Given the description of an element on the screen output the (x, y) to click on. 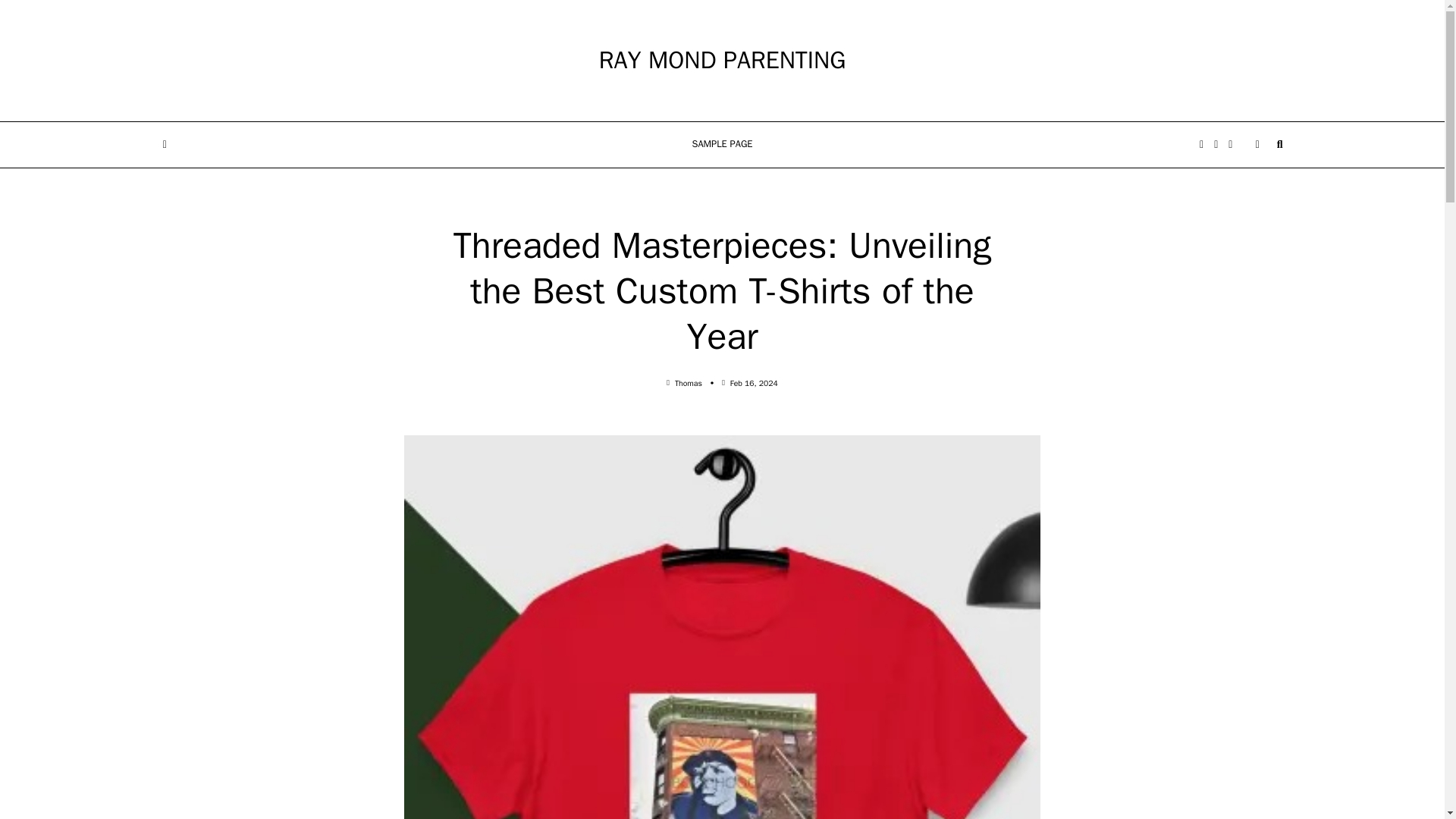
Thomas (688, 383)
RAY MOND PARENTING (721, 60)
SAMPLE PAGE (721, 144)
Feb 16, 2024 (753, 383)
